Given the description of an element on the screen output the (x, y) to click on. 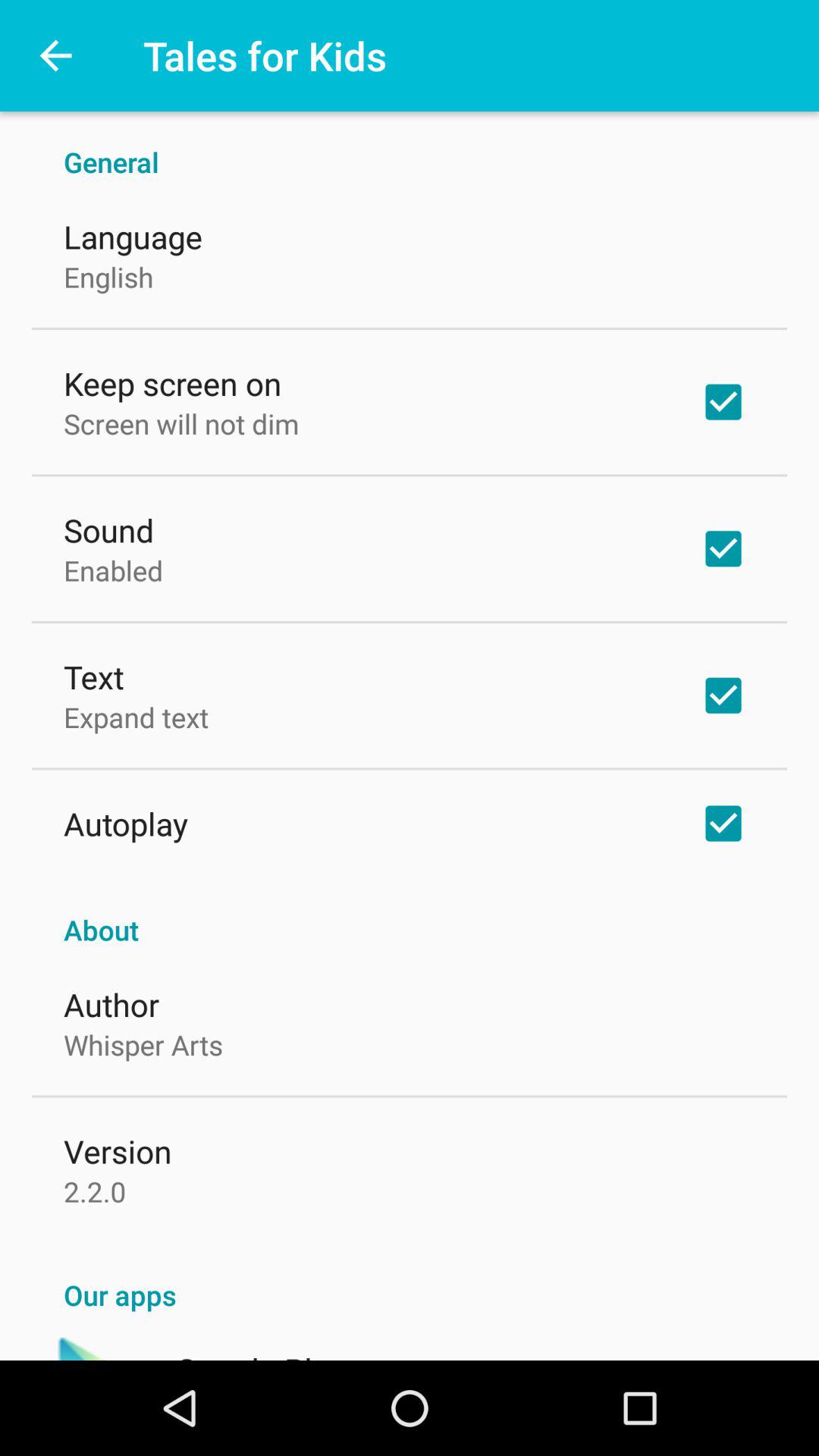
press item above text (113, 570)
